Given the description of an element on the screen output the (x, y) to click on. 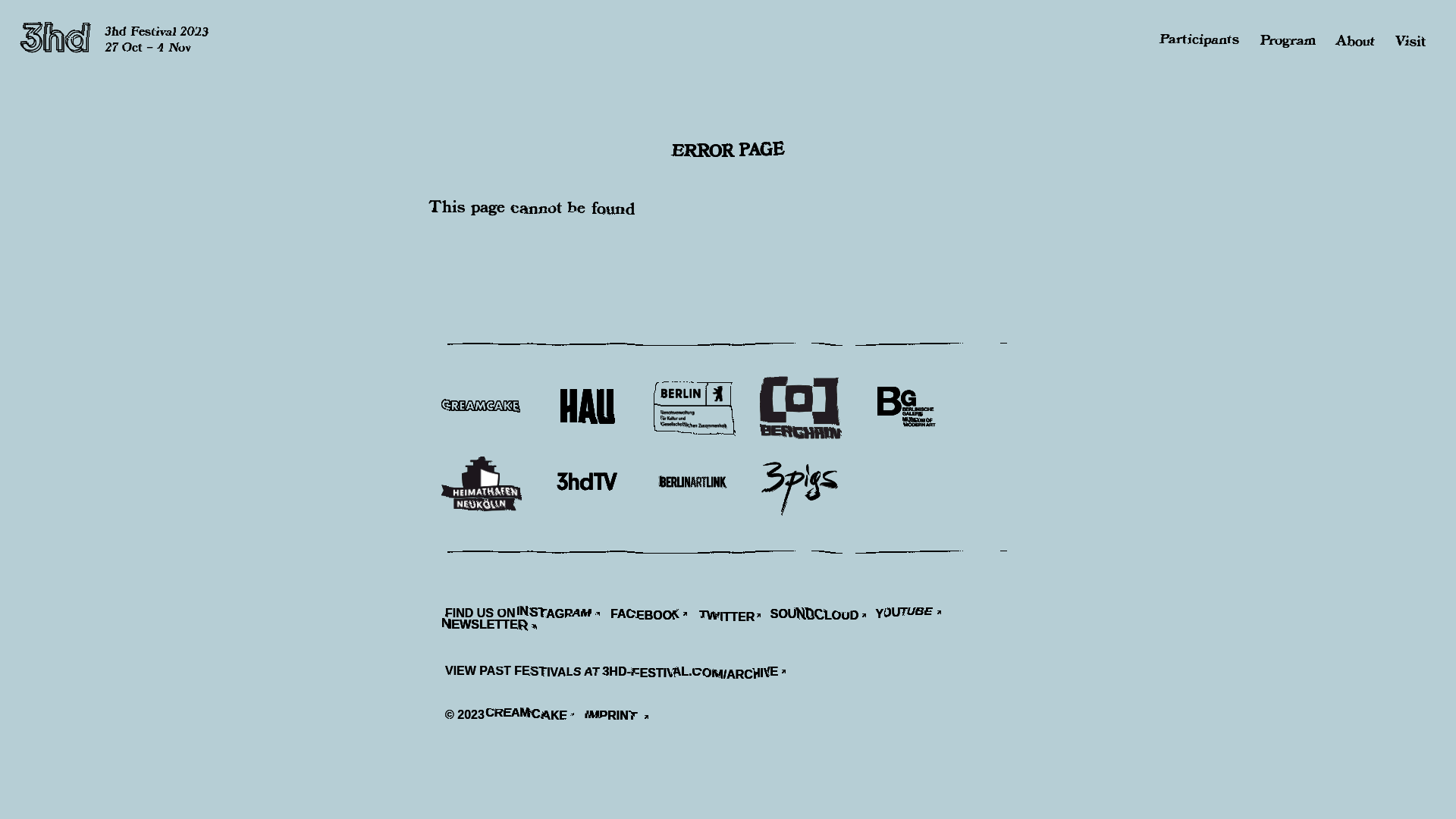
Program Element type: text (1288, 40)
NEWSLETTER Element type: text (496, 628)
SOUNDCLOUD Element type: text (822, 614)
TWITTER Element type: text (733, 614)
Visit Element type: text (1409, 40)
INSTAGRAM Element type: text (564, 614)
IMPRINT  Element type: text (621, 716)
YOUTUBE Element type: text (914, 614)
3HD-FESTIVAL.COM/ARCHIVE Element type: text (699, 672)
Participants Element type: text (1200, 40)
CREAMCAKE Element type: text (536, 716)
FACEBOOK Element type: text (653, 614)
About Element type: text (1355, 40)
